Given the description of an element on the screen output the (x, y) to click on. 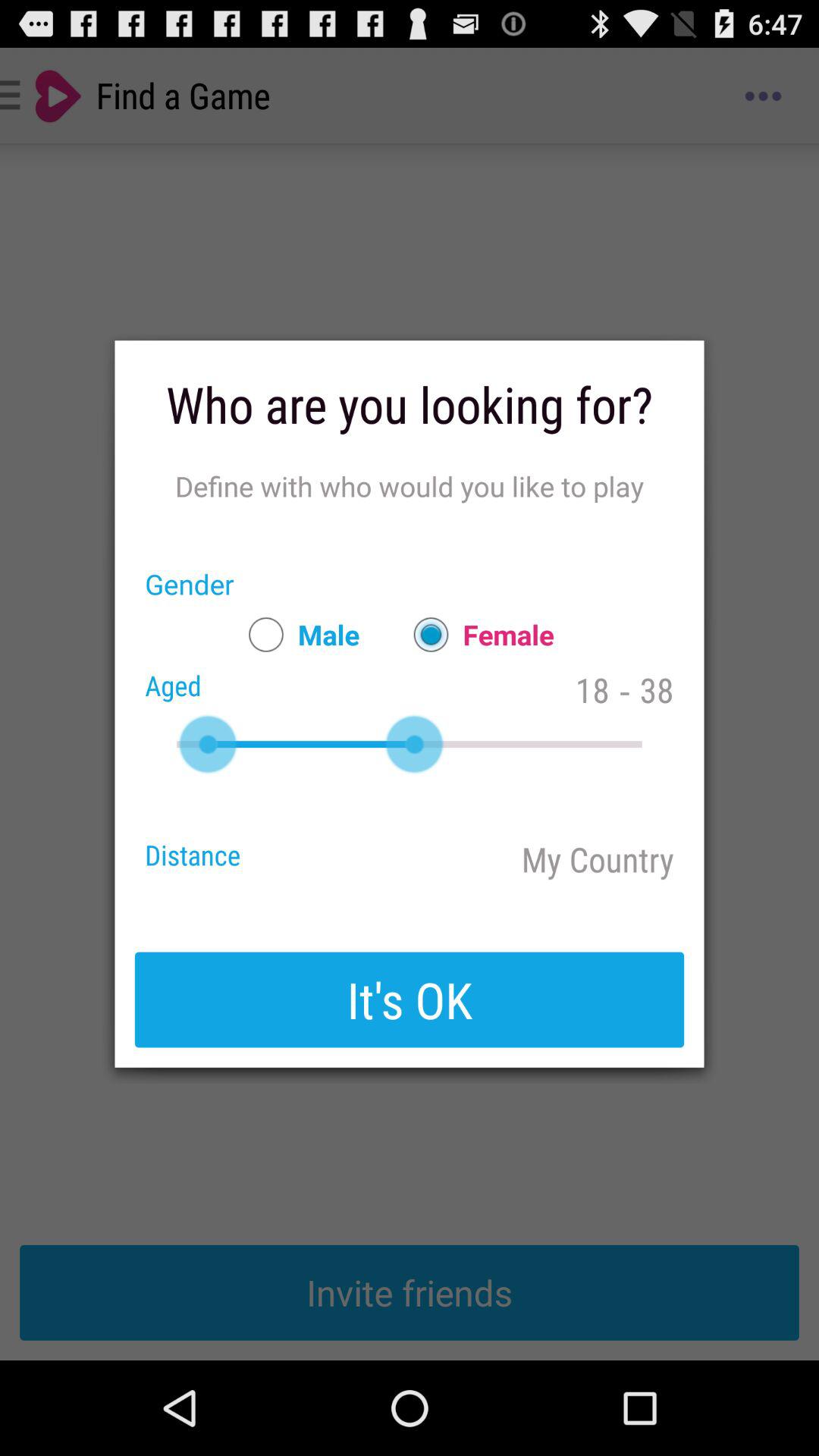
turn on the radio button to the left of the female radio button (296, 634)
